Given the description of an element on the screen output the (x, y) to click on. 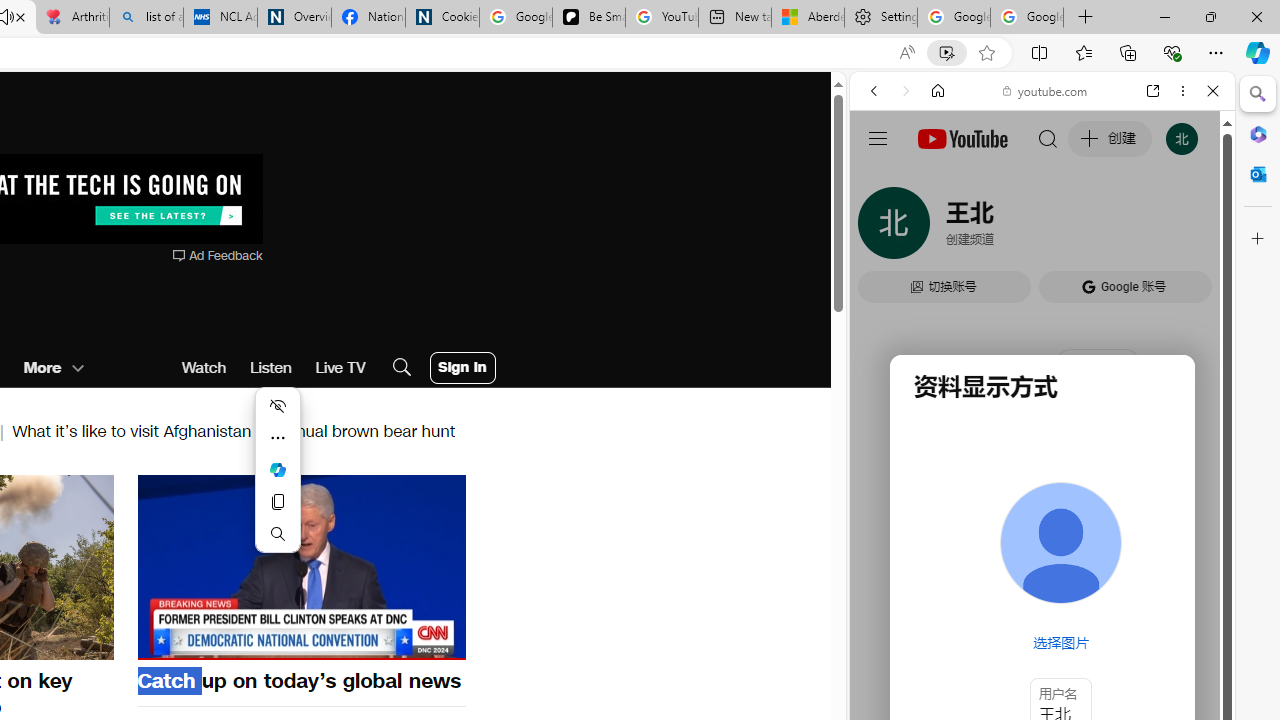
Live TV (340, 367)
Search videos from youtube.com (1005, 657)
Annual brown bear hunt (365, 430)
